Given the description of an element on the screen output the (x, y) to click on. 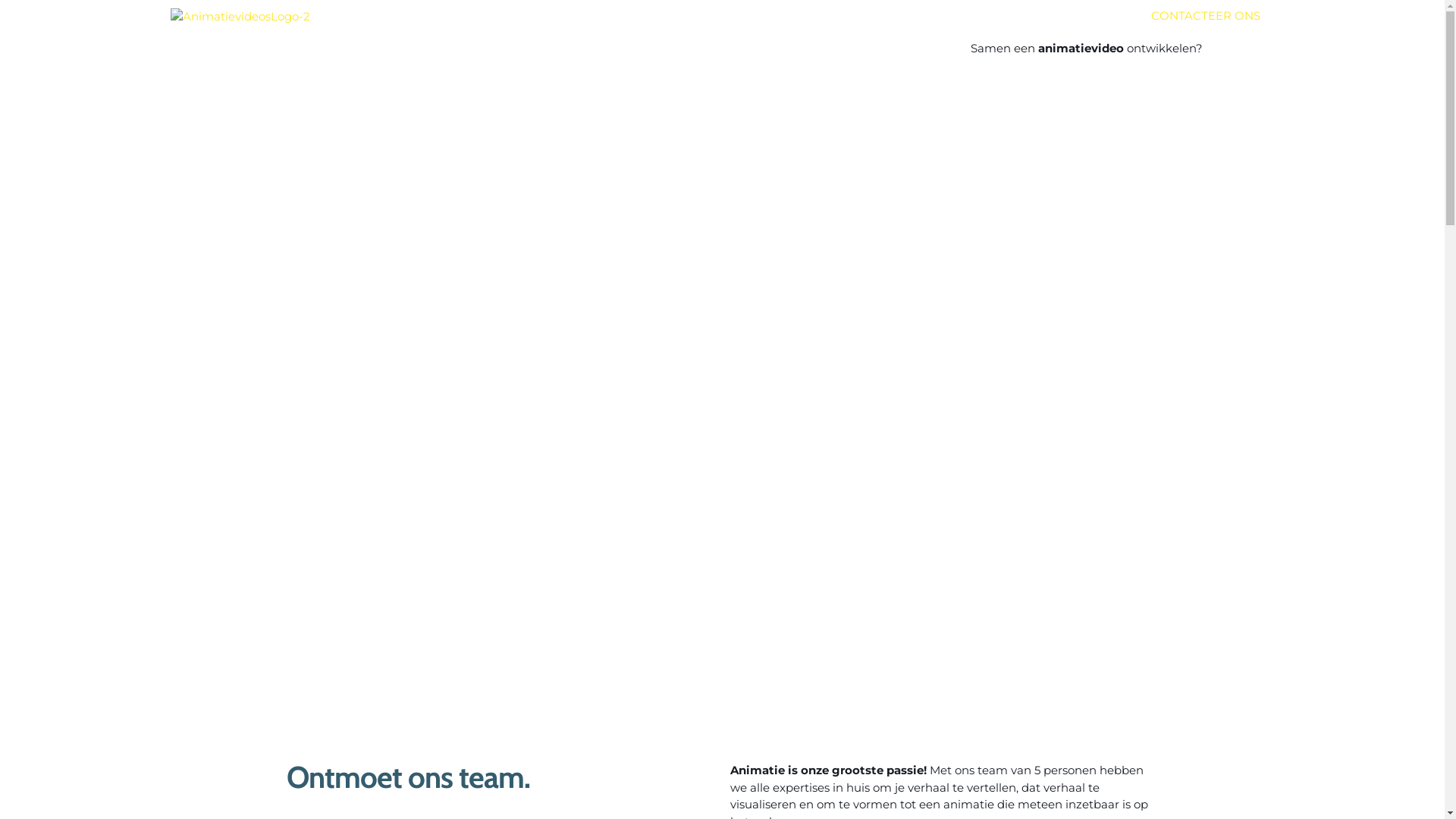
AnimatievideosLogo-2 Element type: hover (240, 16)
CONTACTEER ONS Element type: text (1203, 16)
